Given the description of an element on the screen output the (x, y) to click on. 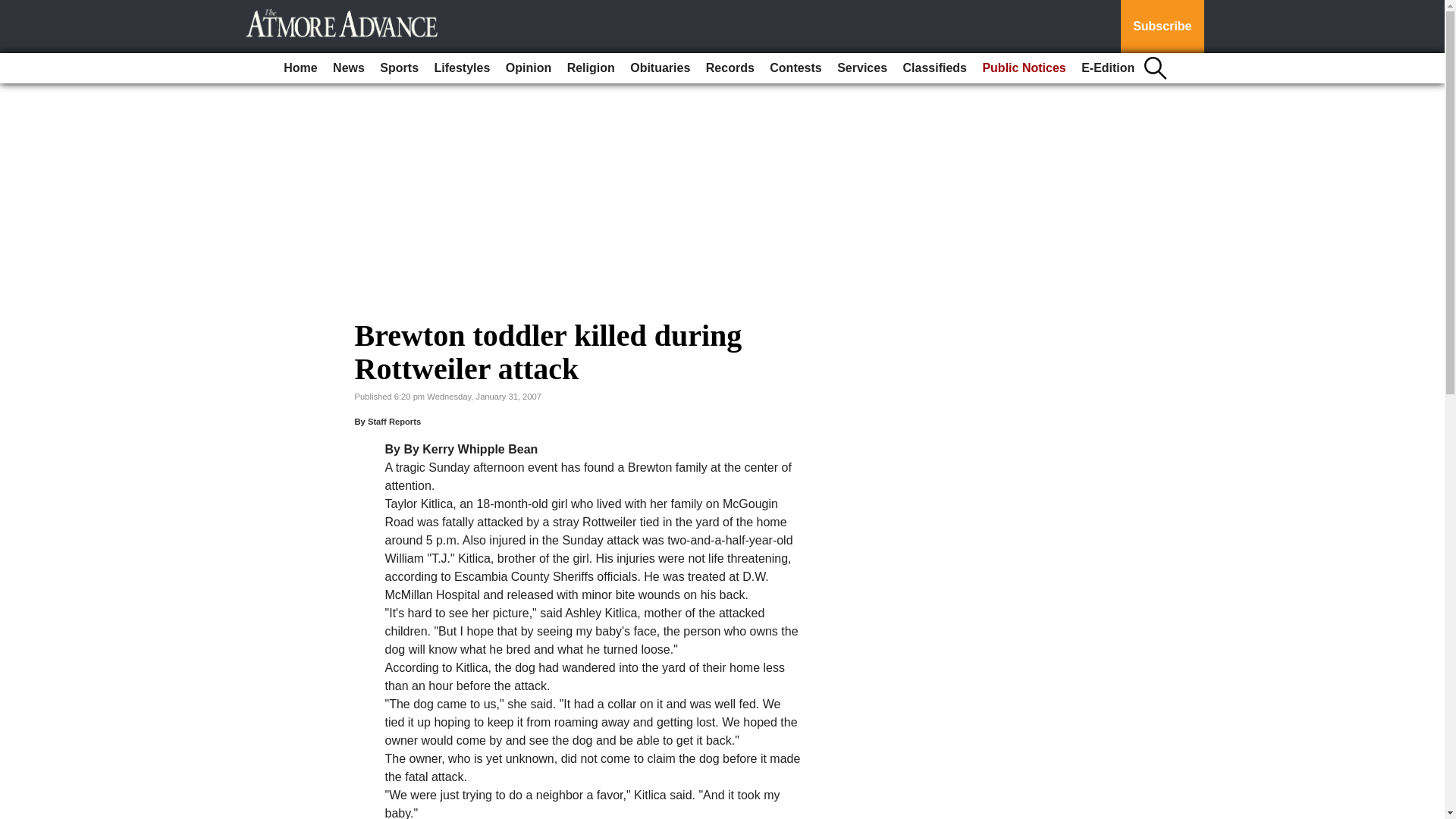
Home (300, 68)
Staff Reports (394, 420)
Services (862, 68)
Sports (399, 68)
Subscribe (1162, 26)
Lifestyles (462, 68)
Classifieds (934, 68)
News (348, 68)
Religion (590, 68)
Public Notices (1023, 68)
